Given the description of an element on the screen output the (x, y) to click on. 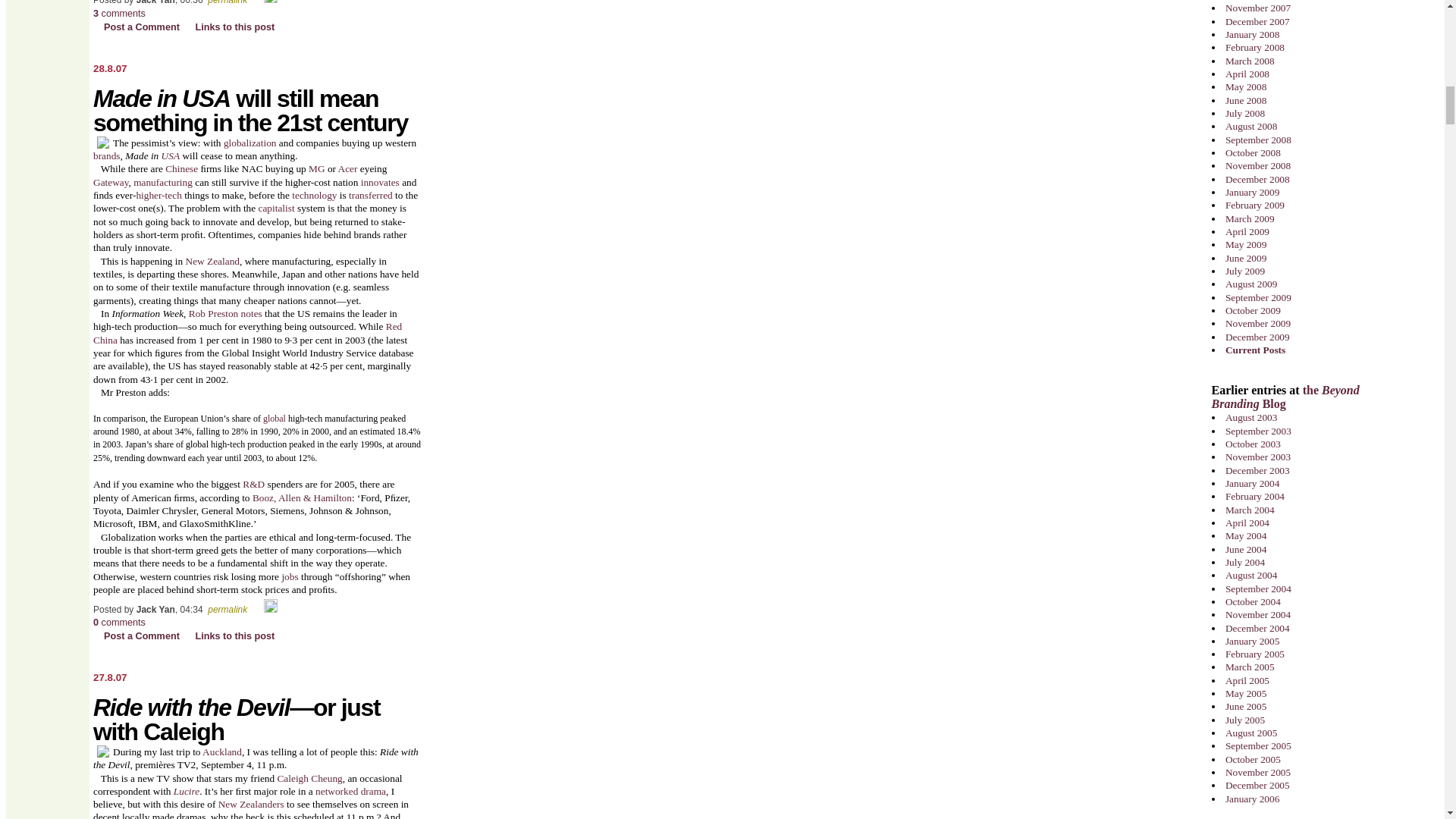
Edit Post (270, 609)
Email Post (256, 2)
Edit Post (270, 2)
Email Post (256, 609)
